Given the description of an element on the screen output the (x, y) to click on. 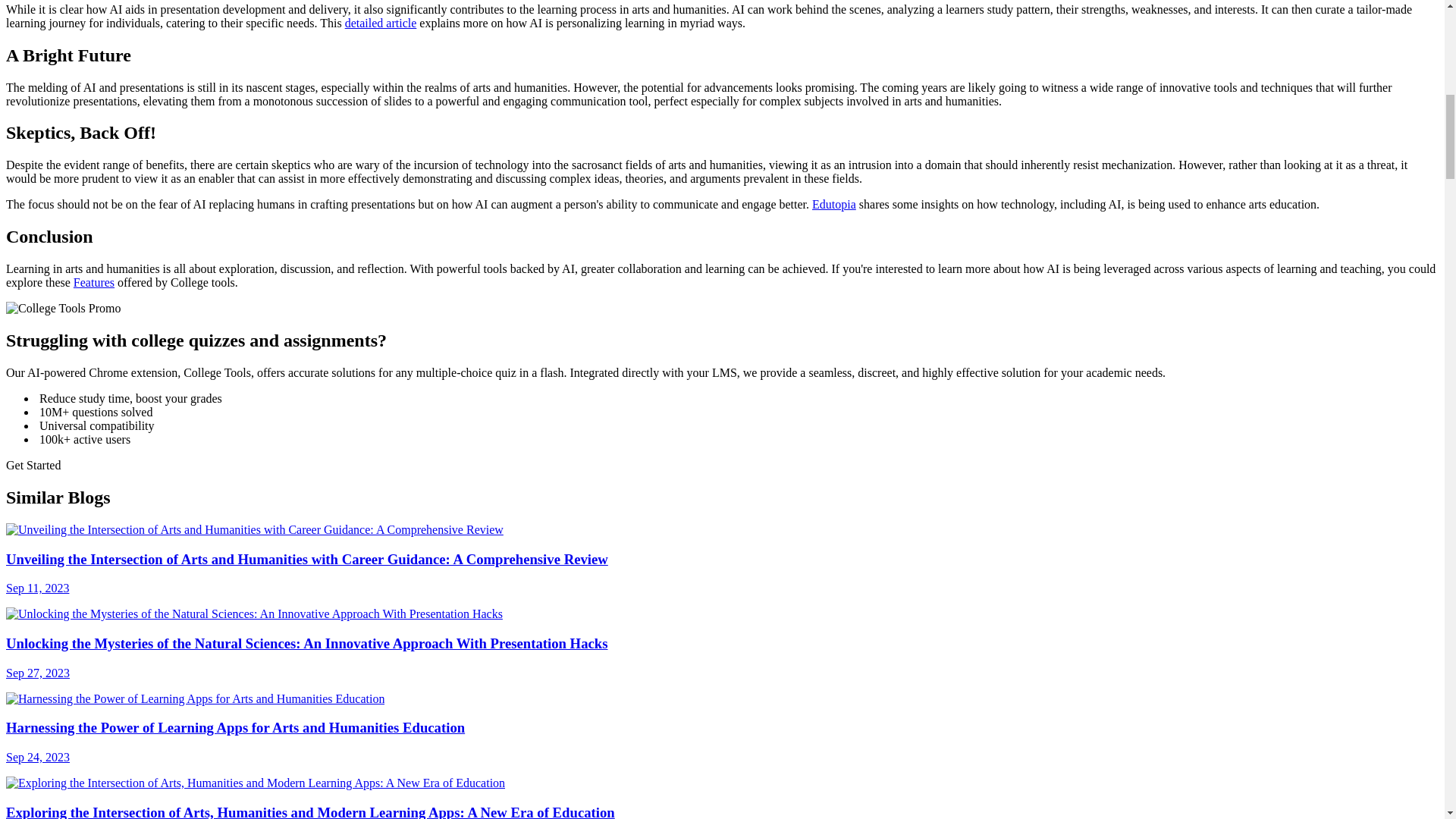
Get Started (33, 464)
Edutopia (834, 204)
detailed article (380, 22)
Features (94, 282)
